Given the description of an element on the screen output the (x, y) to click on. 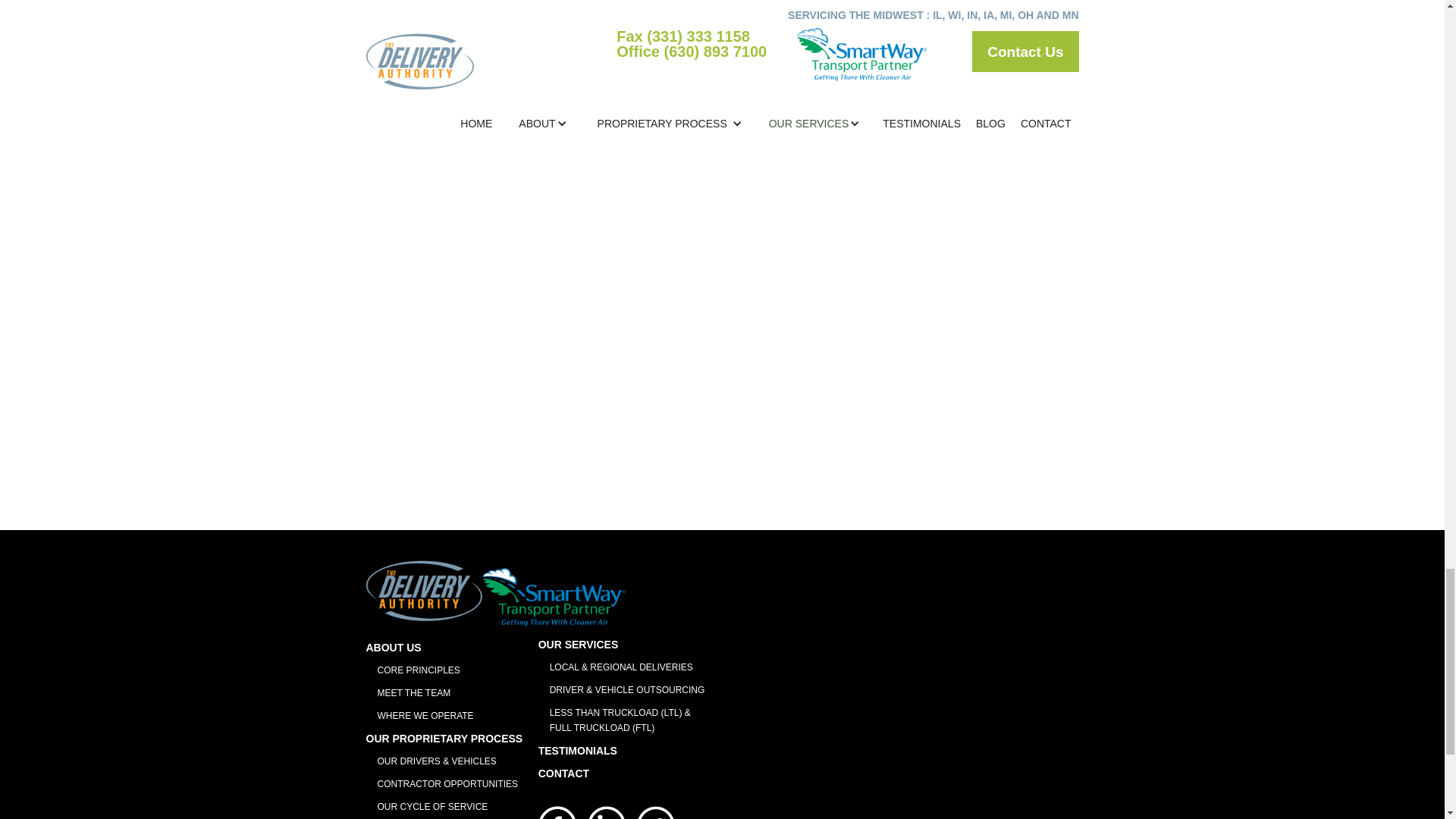
WHERE WE OPERATE (447, 715)
MEET THE TEAM (447, 693)
OUR CYCLE OF SERVICE (447, 806)
CONTRACTOR OPPORTUNITIES (447, 783)
ABOUT US (447, 647)
OUR PROPRIETARY PROCESS (447, 738)
CORE PRINCIPLES (447, 670)
